Given the description of an element on the screen output the (x, y) to click on. 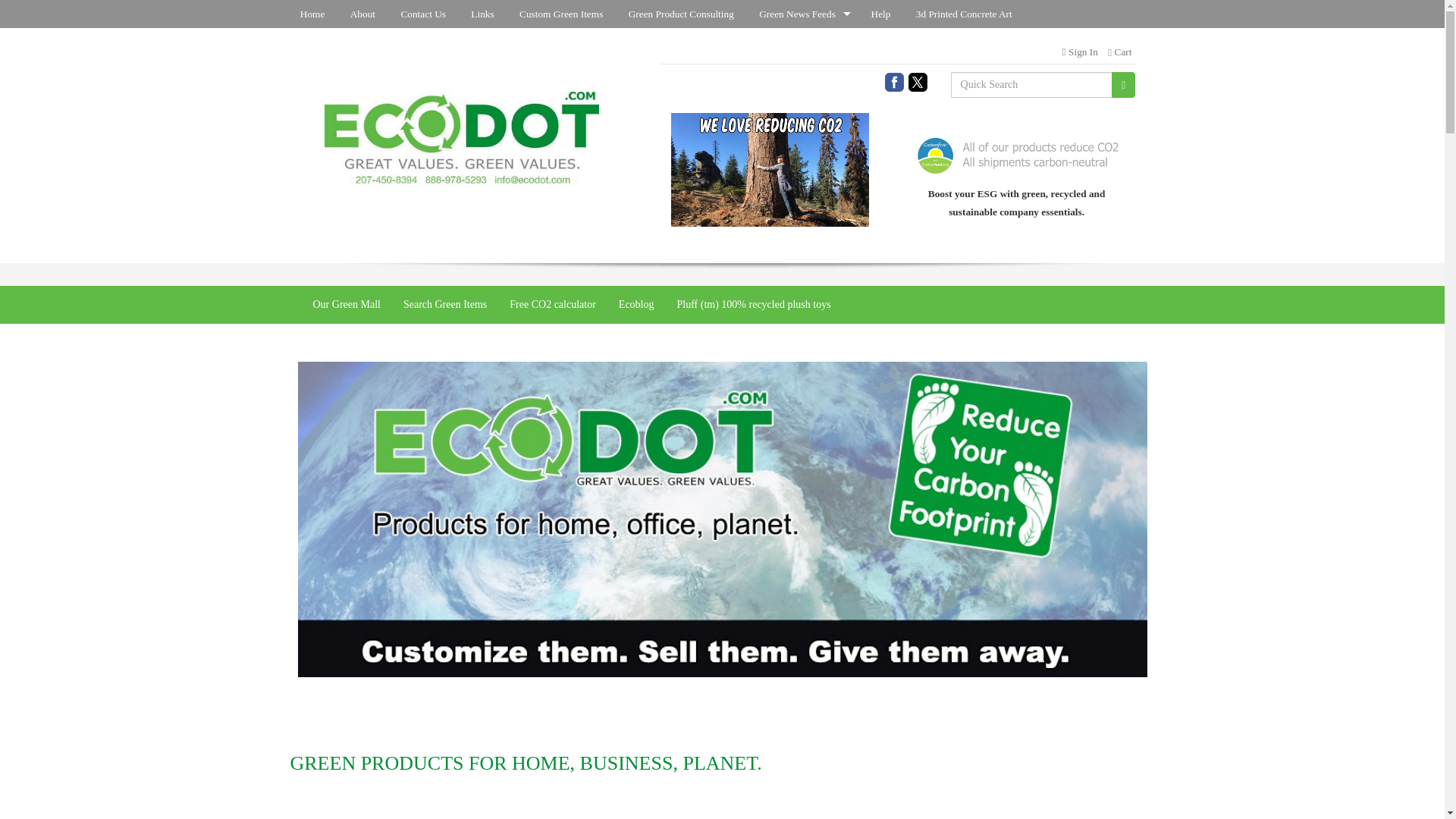
Home (314, 13)
Sign In (1079, 51)
Search Green Items (444, 304)
Green News Feeds (804, 13)
3d Printed Concrete Art (965, 13)
Links (485, 13)
Help (882, 13)
Free CO2 calculator (552, 304)
Green Product Consulting (683, 13)
Visit us on Facebook (894, 80)
Visit us on Twitter (917, 80)
About (364, 13)
Ecoblog (636, 304)
Custom Green Items (563, 13)
Contact Us (425, 13)
